Given the description of an element on the screen output the (x, y) to click on. 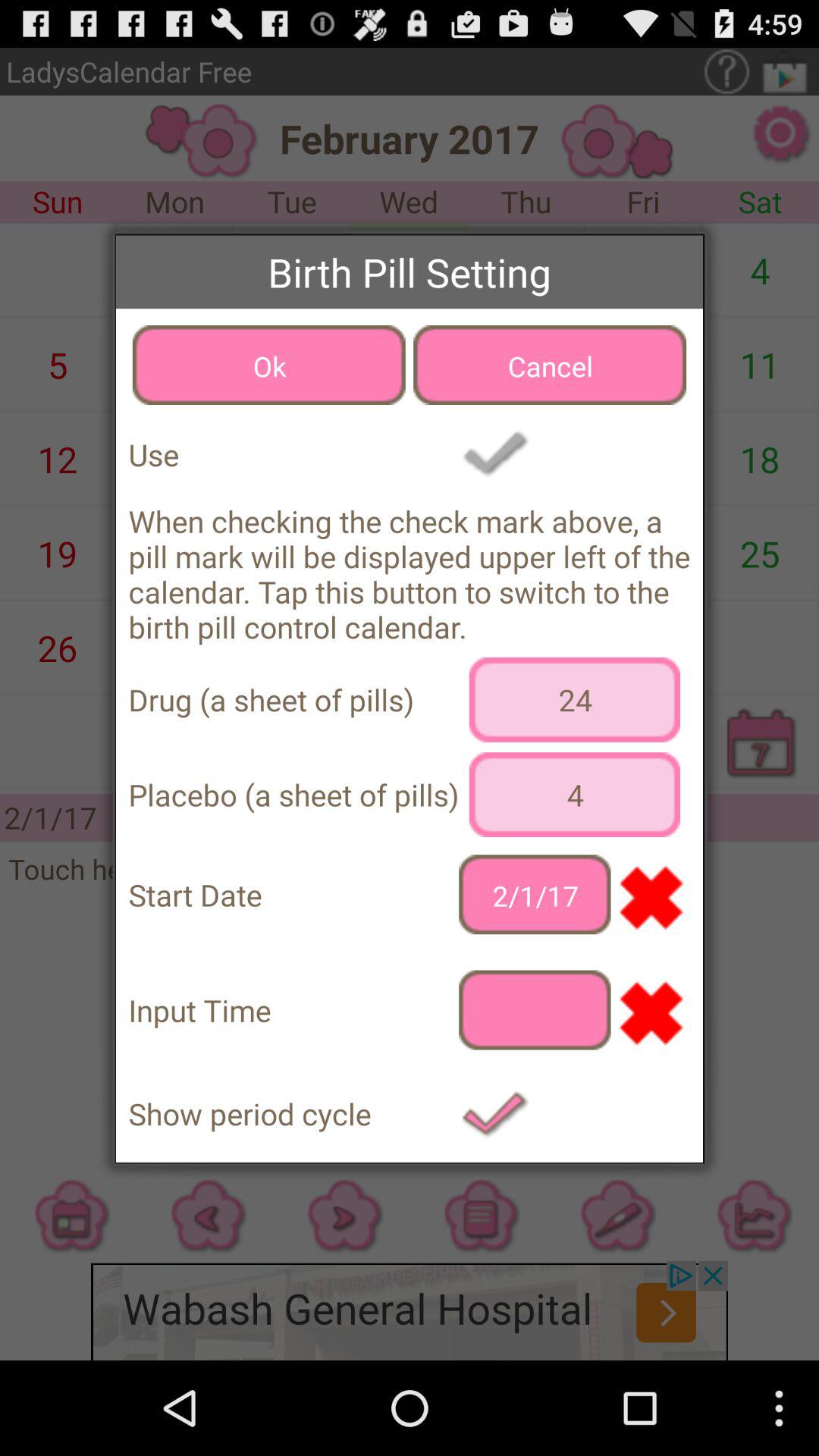
click 2/1/17 (534, 894)
